Given the description of an element on the screen output the (x, y) to click on. 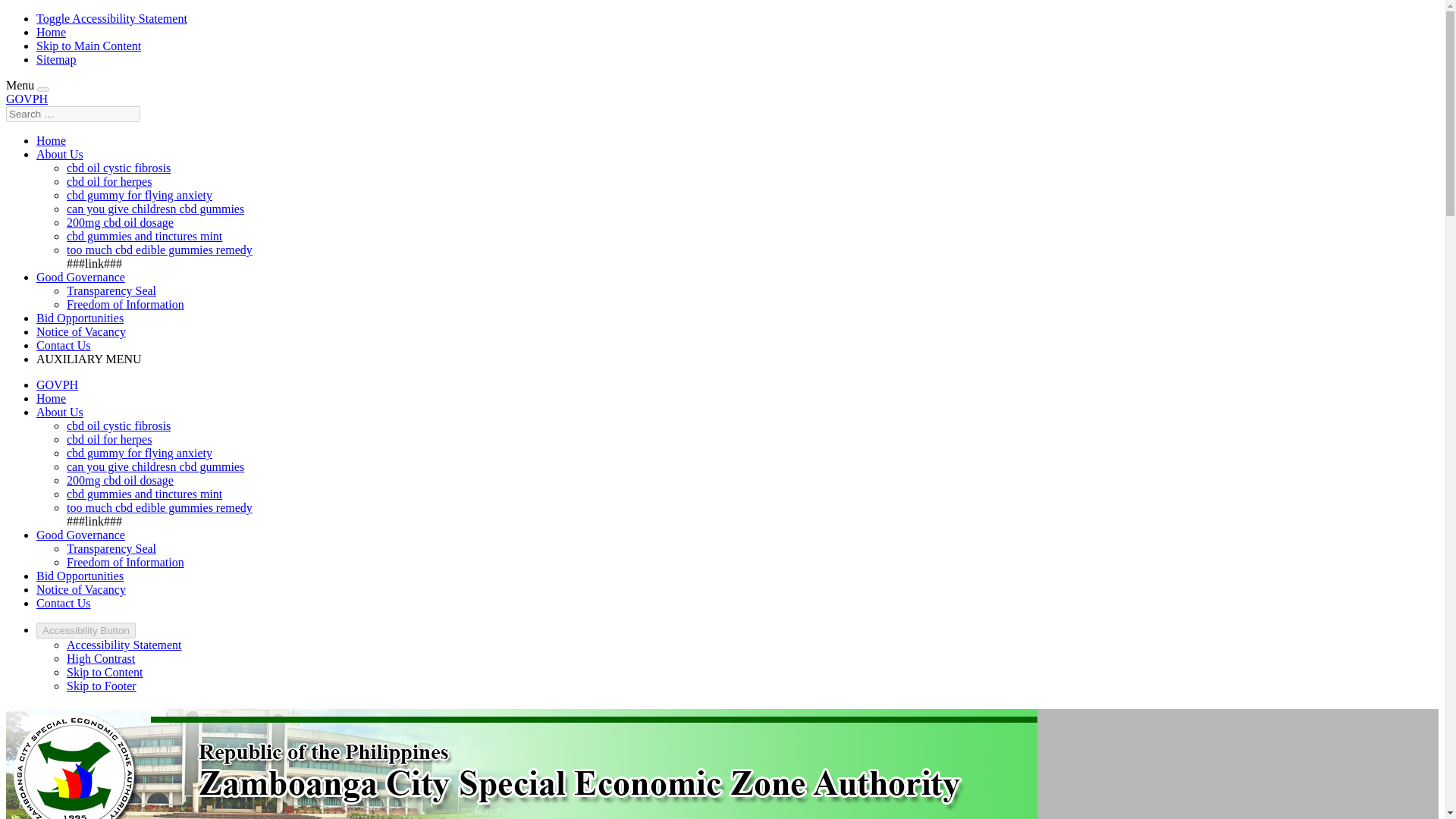
cbd oil for herpes (108, 439)
GOVPH (26, 98)
Skip to Main Content (88, 45)
Toggle Accessibility Statement (111, 18)
too much cbd edible gummies remedy (158, 507)
About Us (59, 411)
Contact Us (63, 345)
cbd oil for herpes (108, 181)
too much cbd edible gummies remedy (158, 249)
Notice of Vacancy (80, 589)
